Given the description of an element on the screen output the (x, y) to click on. 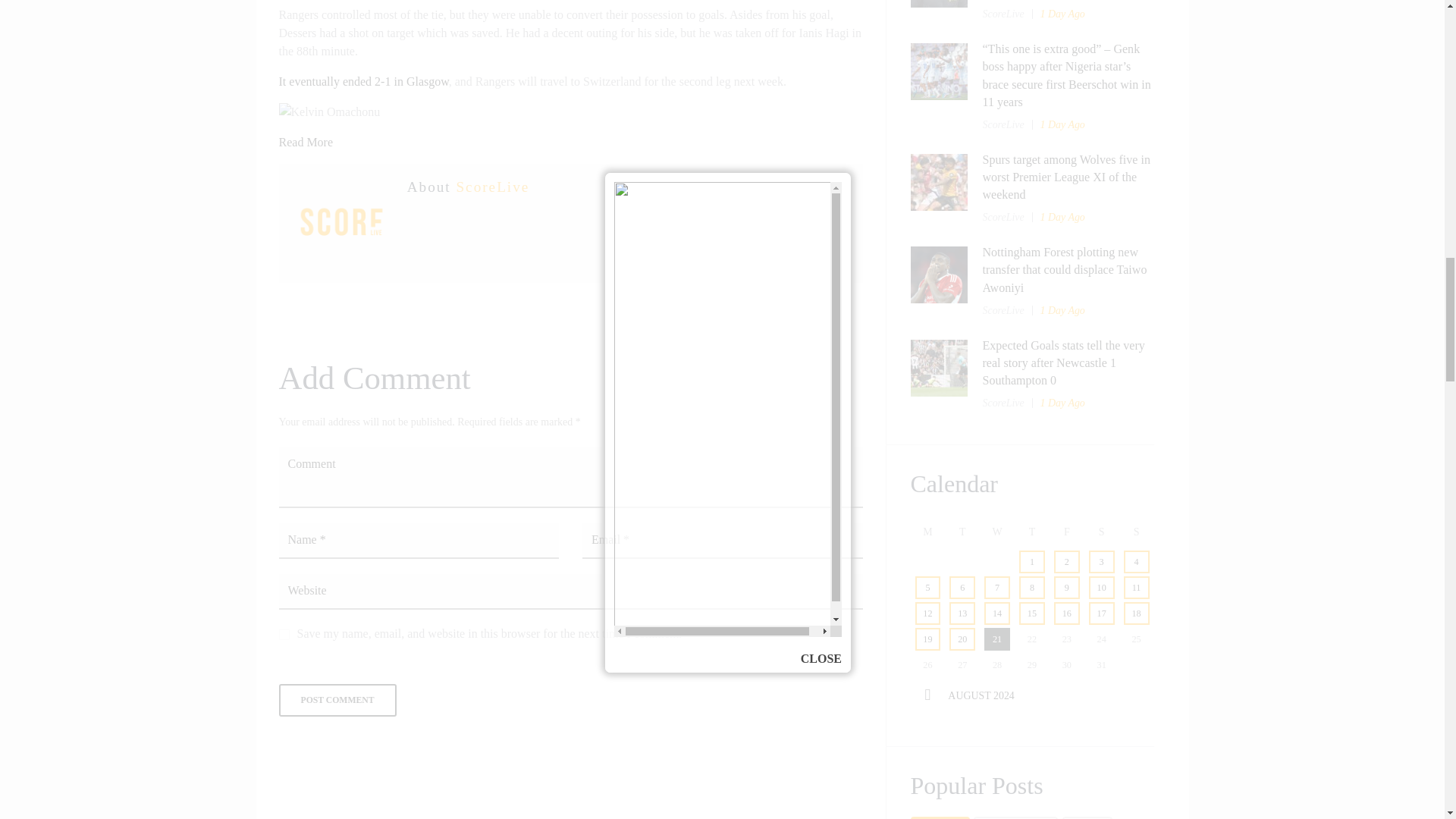
View posts for August 2024 (980, 695)
Thursday (1031, 531)
Tuesday (961, 531)
It eventually ended 2-1 in Glasgow (363, 81)
Post Comment (337, 699)
View posts for July 2024 (927, 695)
Monday (927, 531)
Friday (1066, 531)
Post Comment (337, 699)
ScoreLive (492, 186)
